Given the description of an element on the screen output the (x, y) to click on. 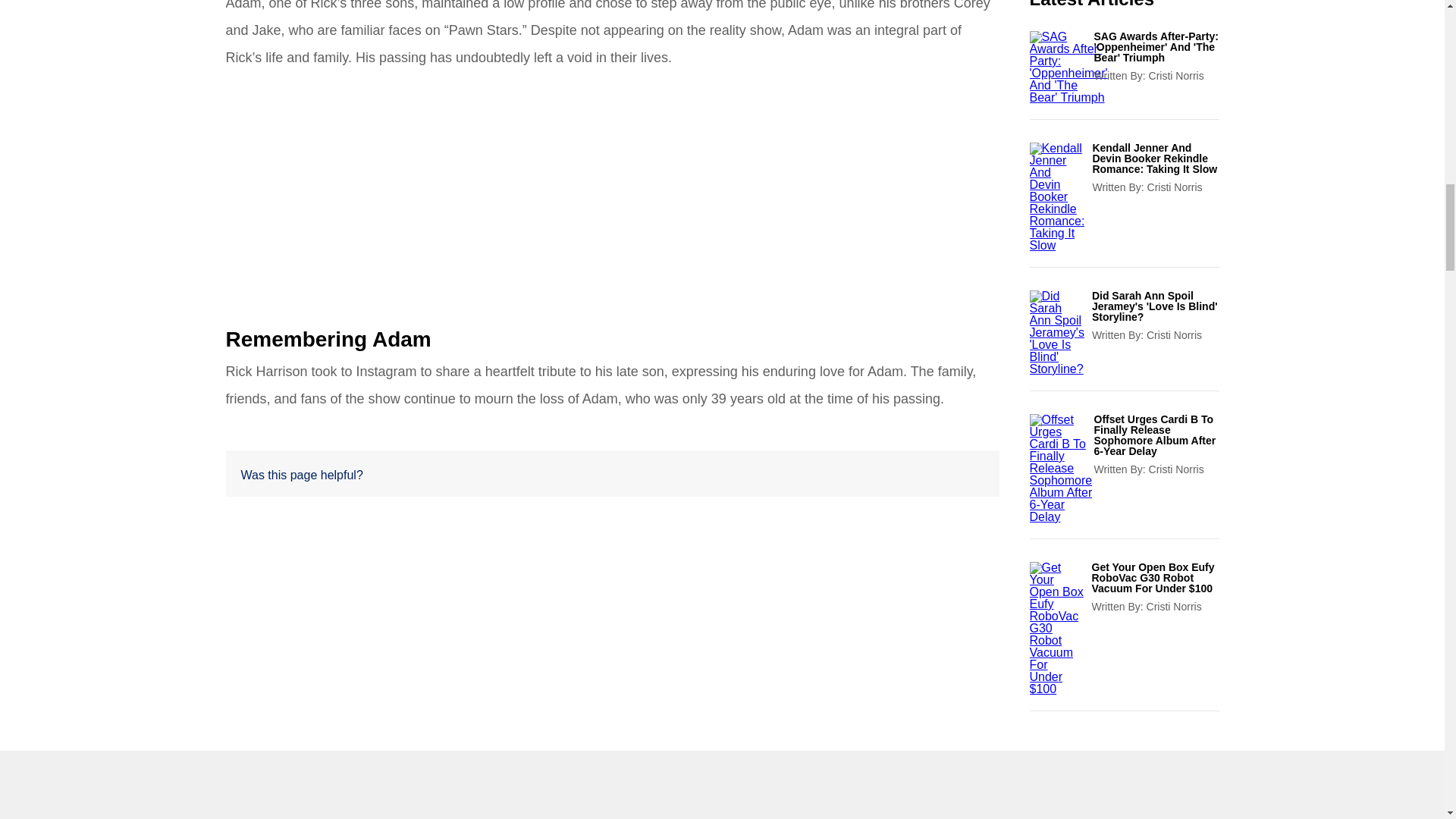
SAG Awards After-Party: 'Oppenheimer' And 'The Bear' Triumph (1155, 47)
Did Sarah Ann Spoil Jeramey's 'Love Is Blind' Storyline? (1156, 306)
